Given the description of an element on the screen output the (x, y) to click on. 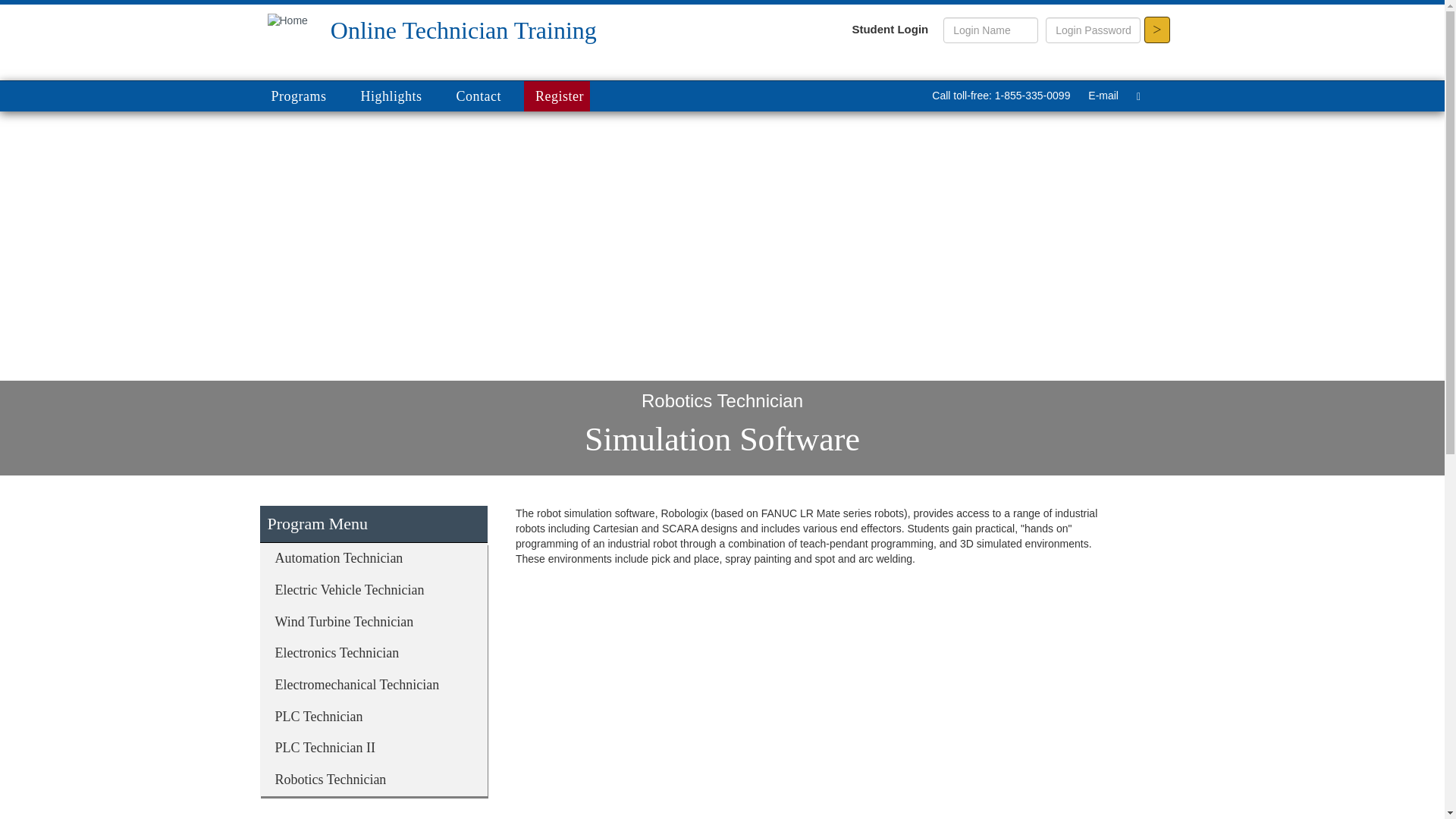
Electronics Technician (372, 653)
Highlights (396, 96)
Automation Technician (372, 558)
Register (556, 96)
Programs (307, 96)
Contact (484, 96)
Wind Turbine Technician (372, 622)
E-mail (1102, 95)
Online Technical Training (286, 20)
Electric Vehicle Technician (372, 590)
